Given the description of an element on the screen output the (x, y) to click on. 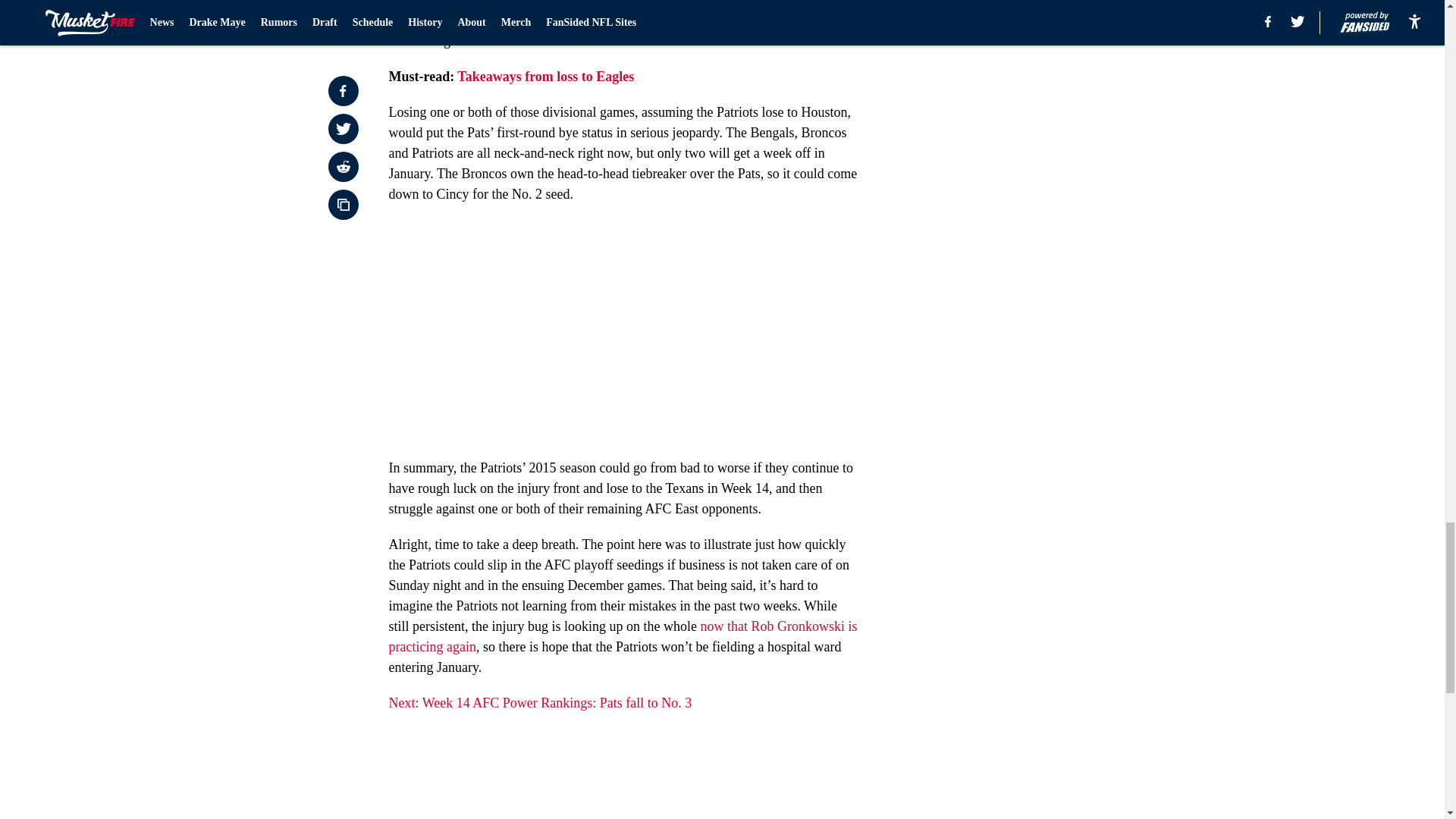
now that Rob Gronkowski is practicing again (622, 636)
Next: Week 14 AFC Power Rankings: Pats fall to No. 3 (539, 702)
Takeaways from loss to Eagles (545, 76)
